Given the description of an element on the screen output the (x, y) to click on. 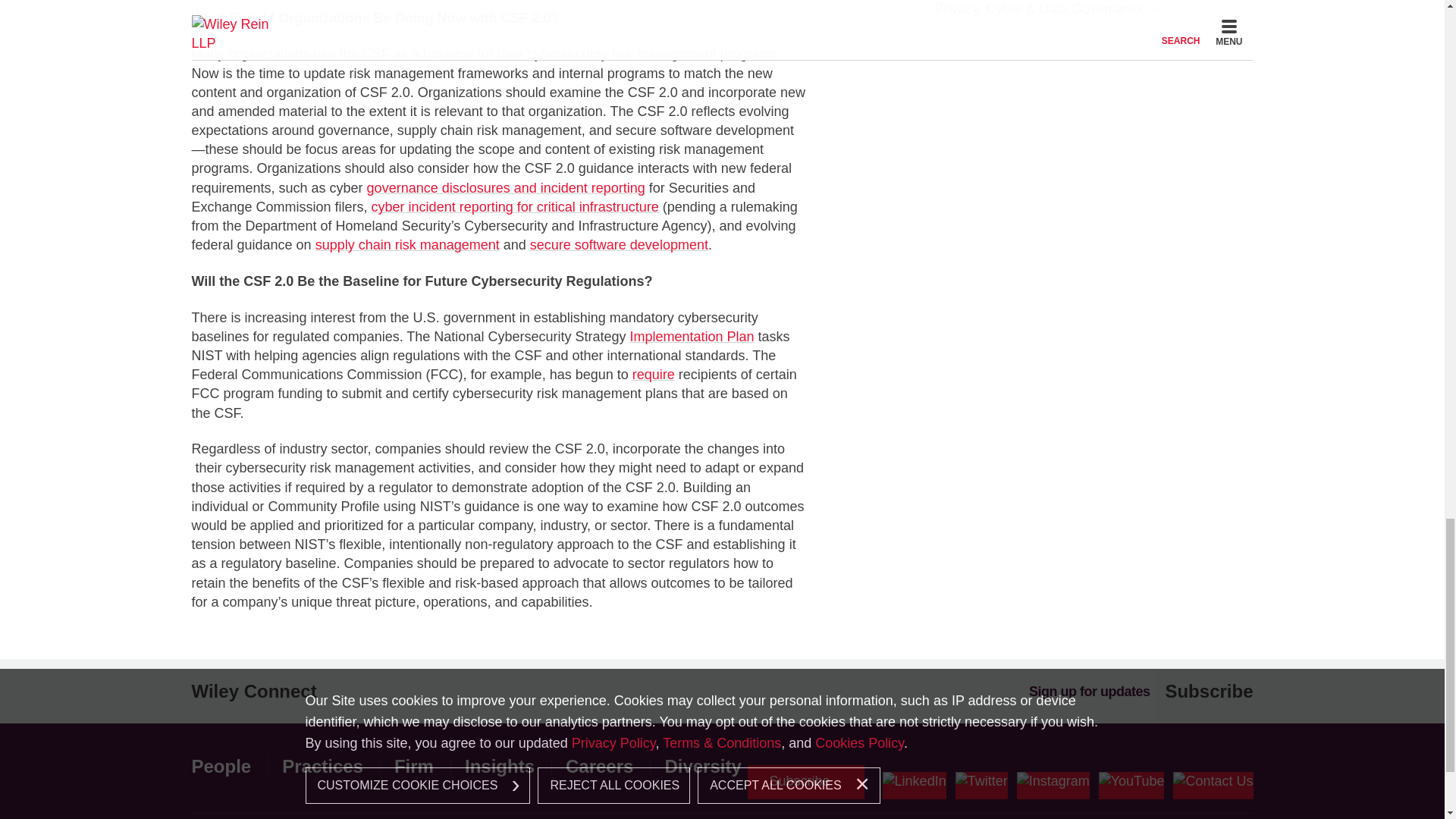
Contact Us (1212, 785)
